Given the description of an element on the screen output the (x, y) to click on. 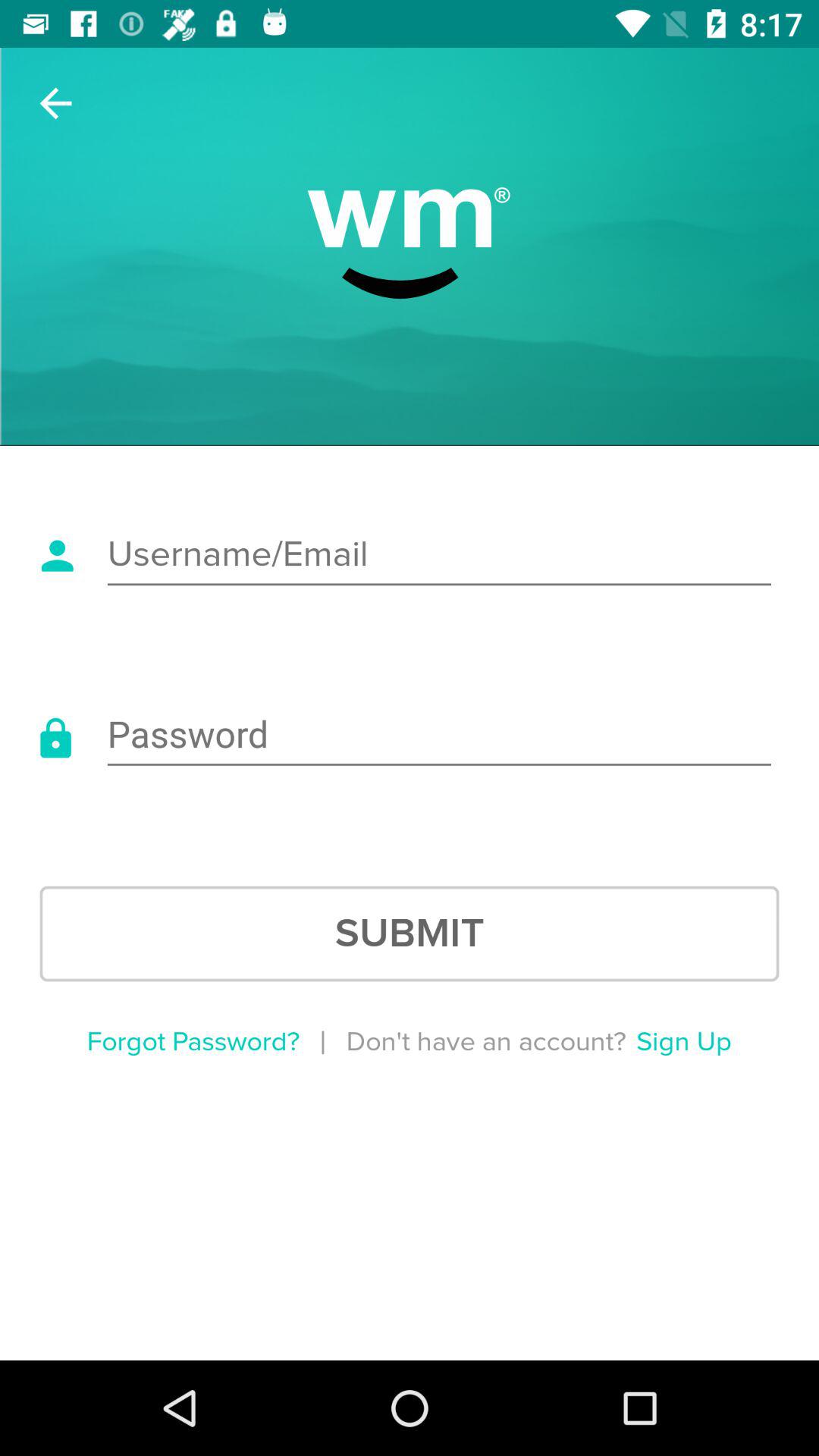
flip to the forgot password? item (193, 1042)
